Given the description of an element on the screen output the (x, y) to click on. 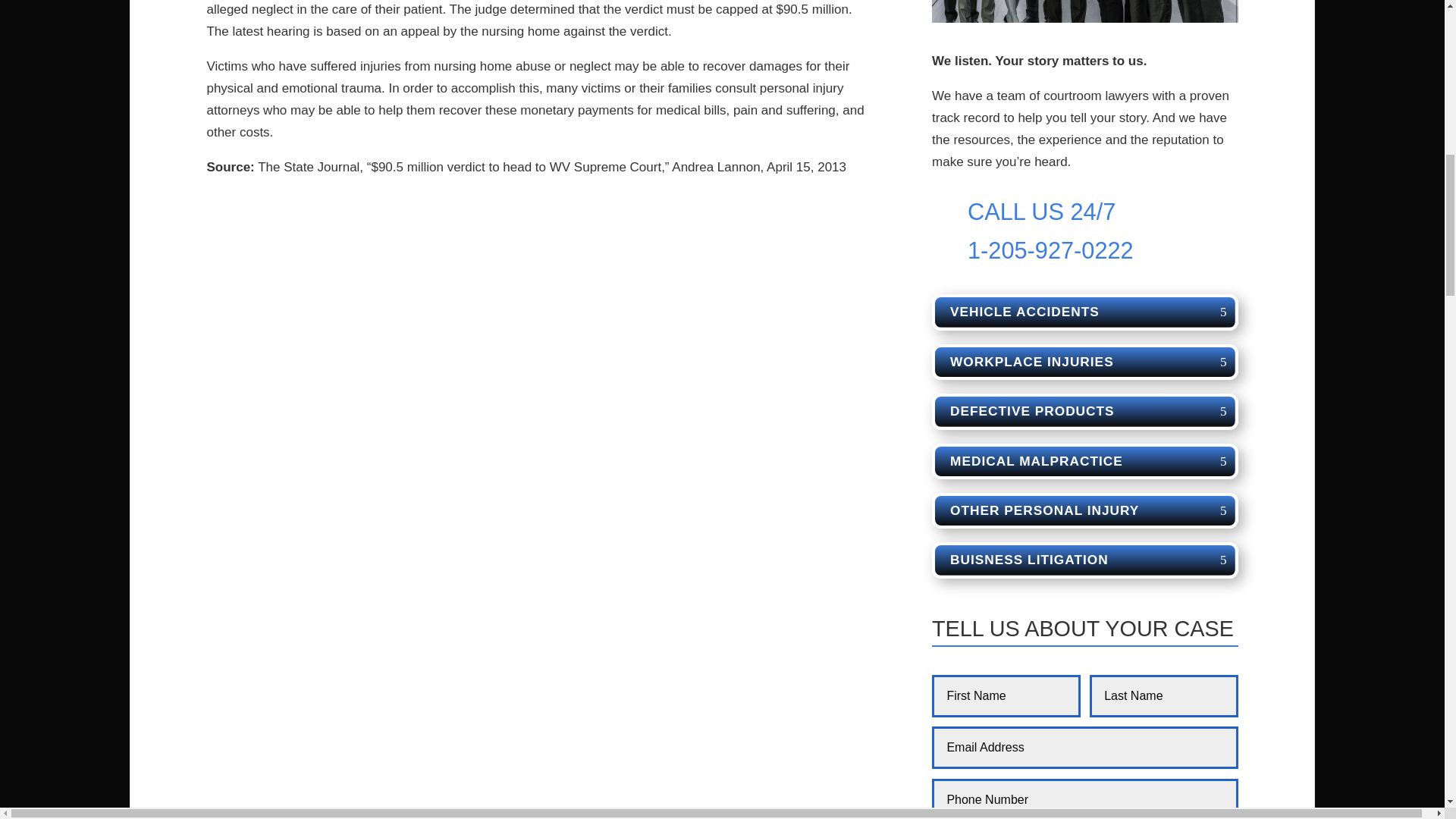
MRB Trial Attorneys in Alabama wrongful death (1084, 11)
